Given the description of an element on the screen output the (x, y) to click on. 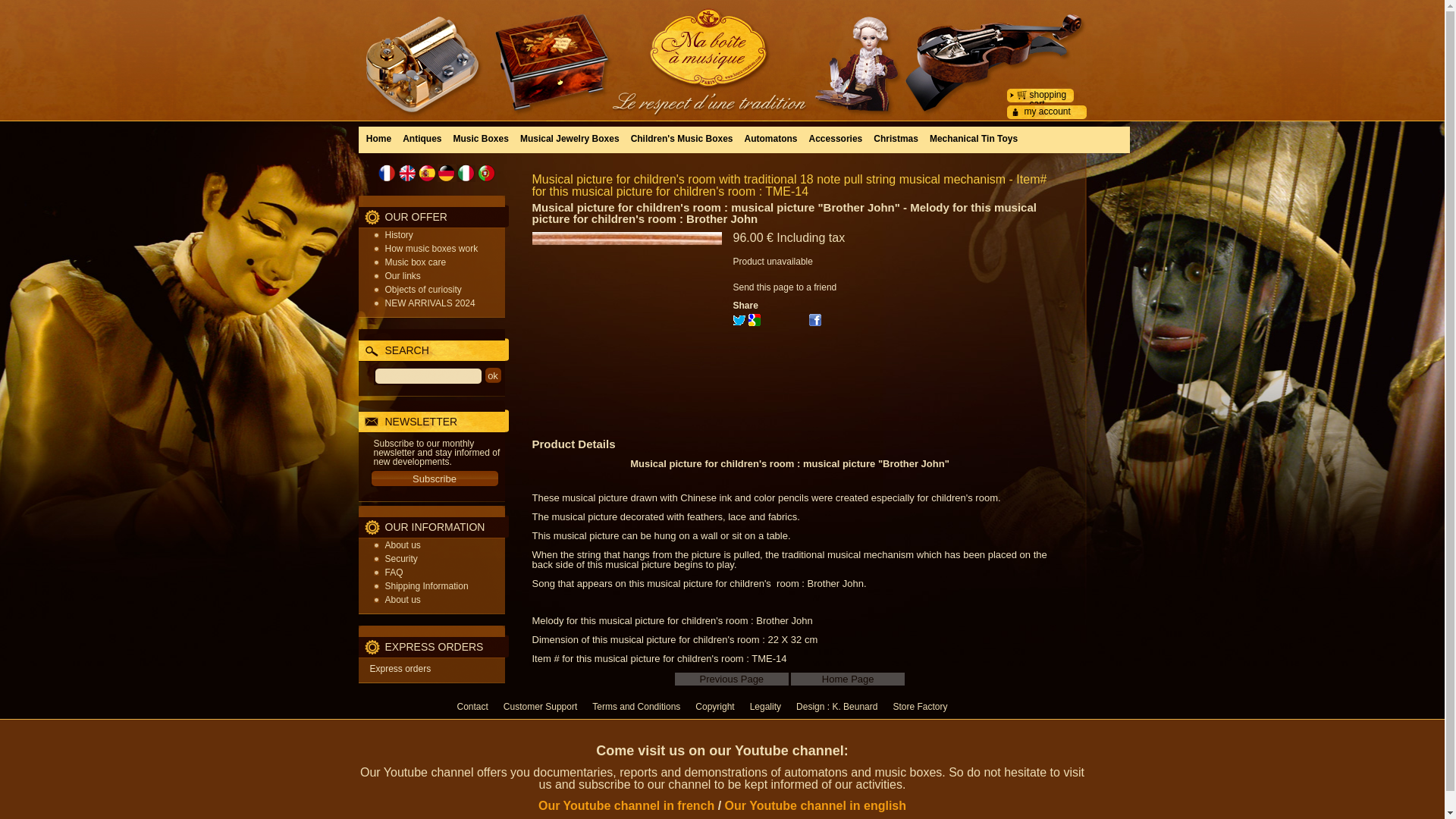
Home (378, 137)
shopping cart (1048, 98)
Deutsch (445, 172)
Musical Jewelry Boxes (569, 137)
Subscribe (433, 478)
Music Boxes (480, 137)
Previous page (732, 678)
Antiques (422, 137)
Home (378, 137)
Home page (722, 48)
